Given the description of an element on the screen output the (x, y) to click on. 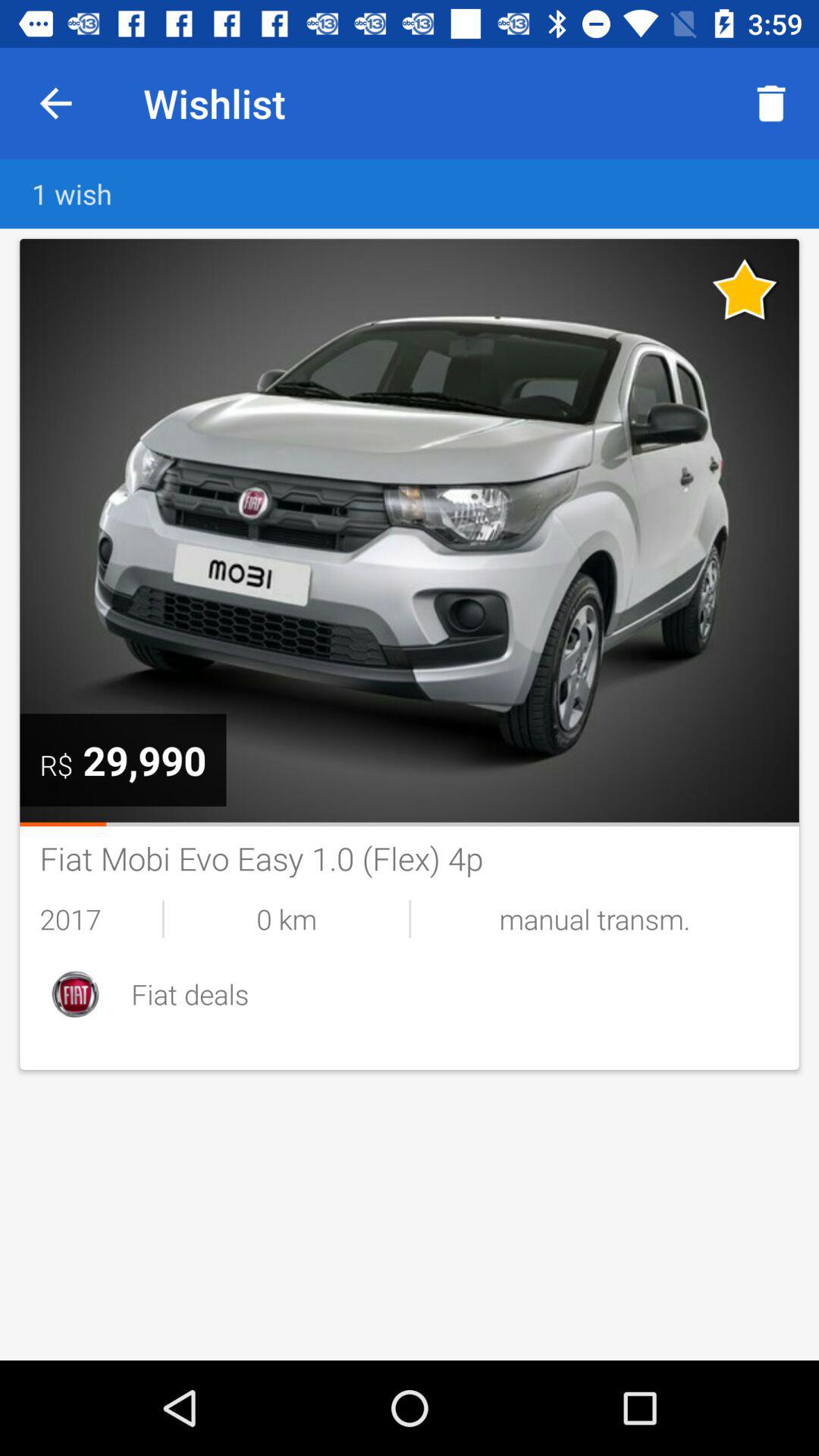
open the 2017 item (100, 918)
